Given the description of an element on the screen output the (x, y) to click on. 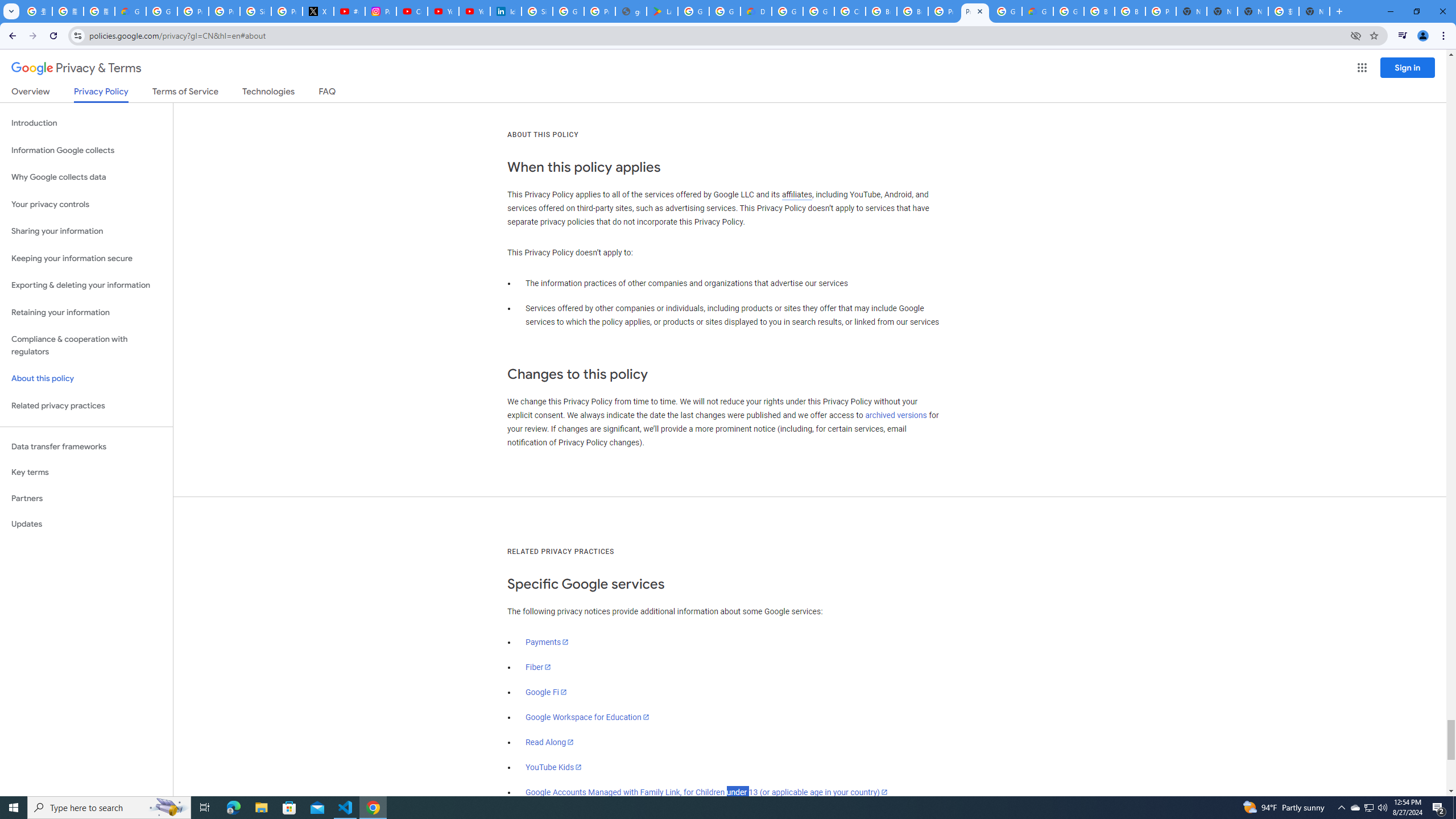
Google Cloud Estimate Summary (1037, 11)
Google Workspace for Education (587, 716)
Sign in - Google Accounts (536, 11)
Browse Chrome as a guest - Computer - Google Chrome Help (912, 11)
Exporting & deleting your information (86, 284)
Browse Chrome as a guest - Computer - Google Chrome Help (1098, 11)
Key terms (86, 472)
